Given the description of an element on the screen output the (x, y) to click on. 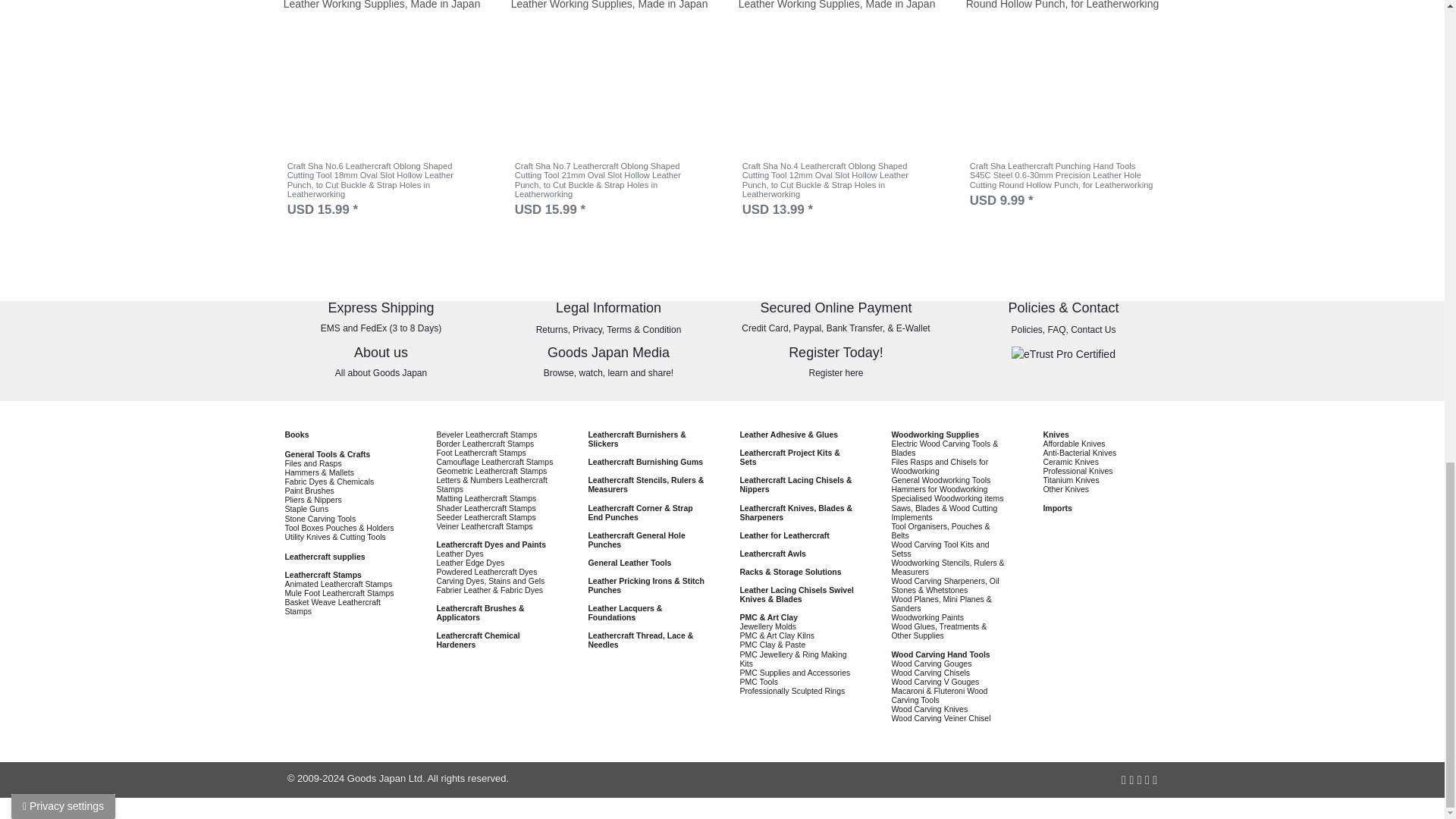
eTrust Pro Certified (1063, 354)
